Given the description of an element on the screen output the (x, y) to click on. 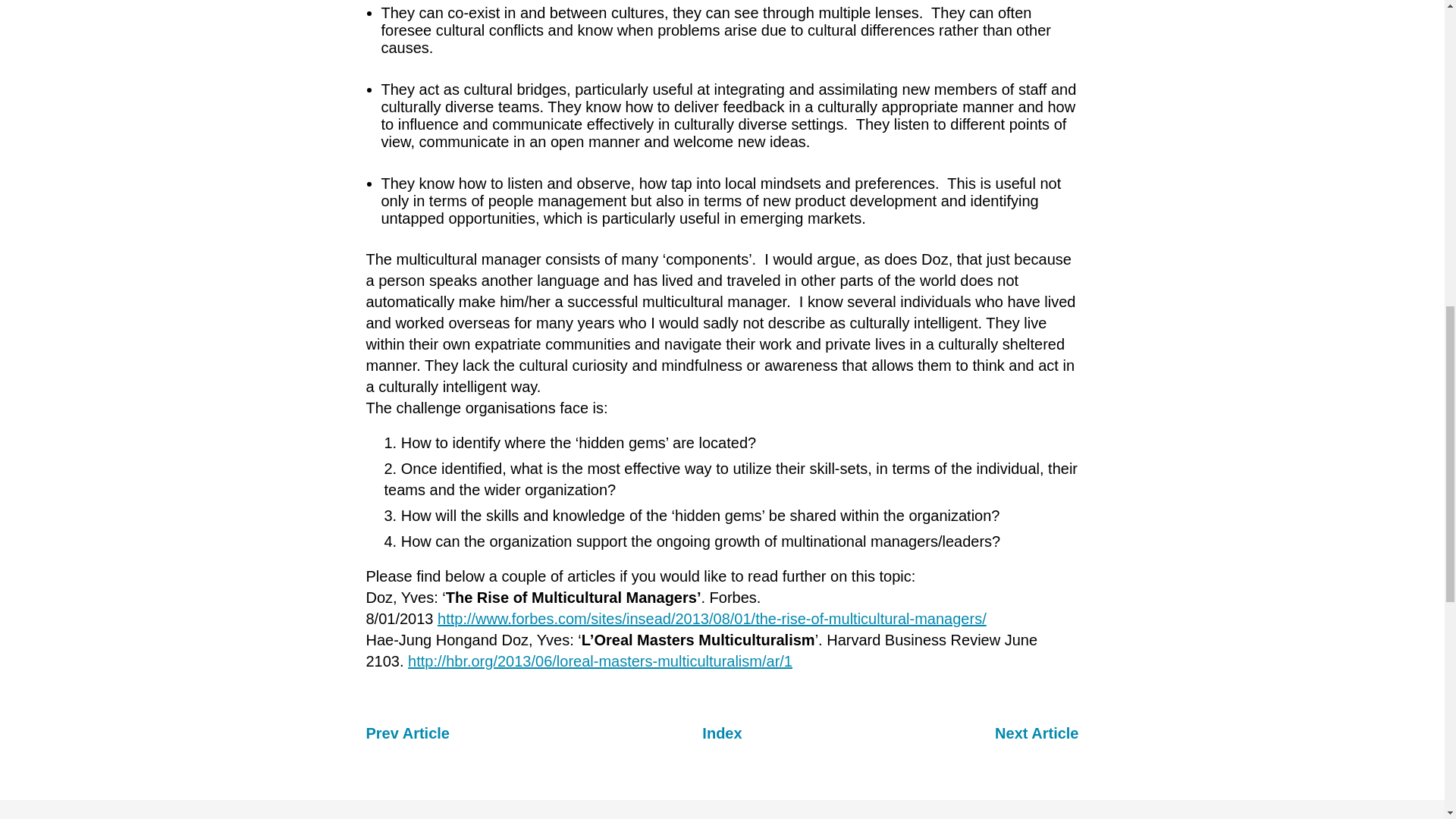
Next Article (1036, 733)
Prev Article (406, 733)
Index (721, 733)
